Given the description of an element on the screen output the (x, y) to click on. 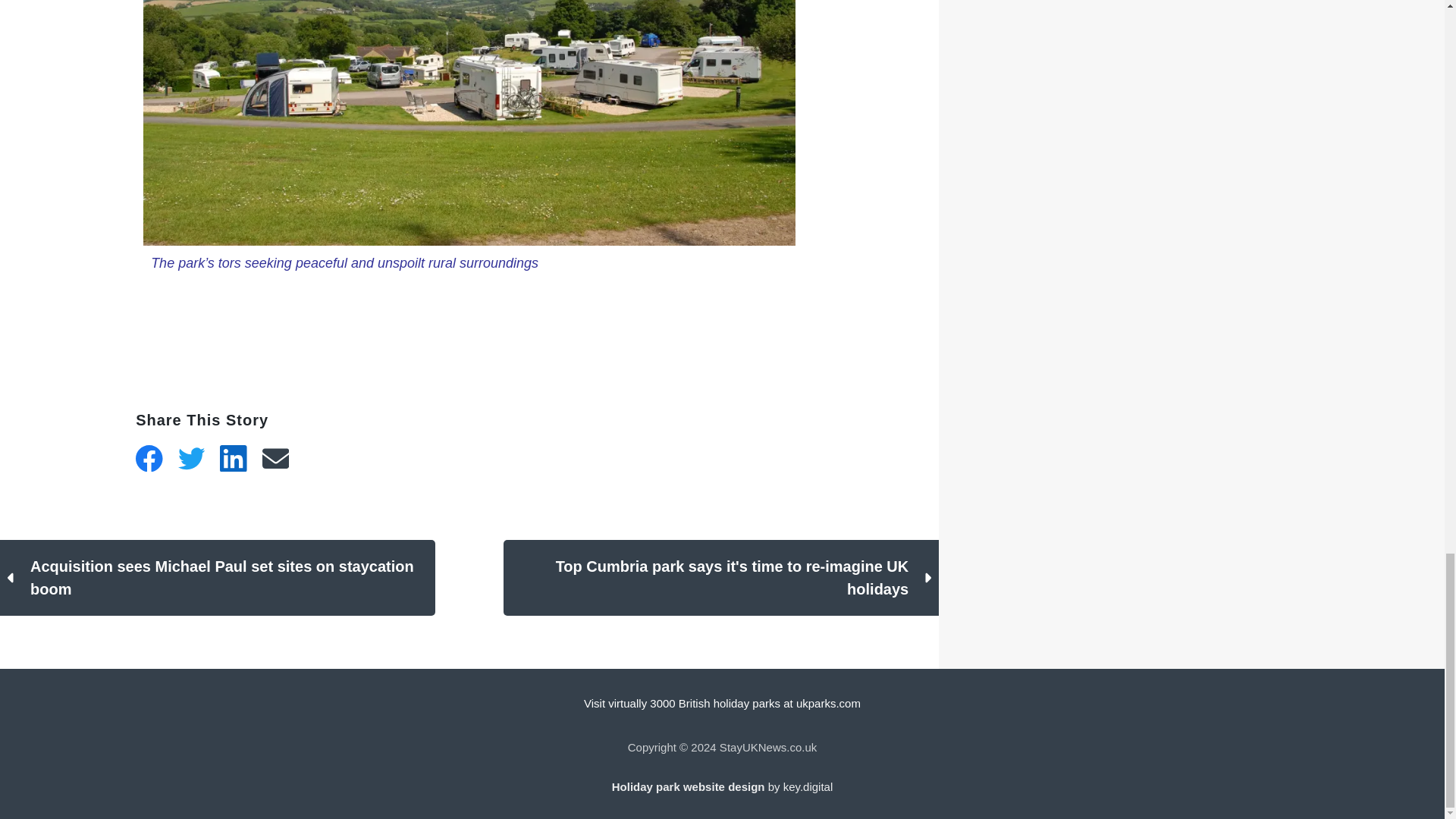
Share On Twitter (191, 458)
Top Cumbria park says it's time to re-imagine UK holidays (721, 577)
Share On LinkedIn (233, 458)
Visit virtually 3000 British holiday parks at ukparks.com (721, 703)
Email a link to this story (275, 458)
Acquisition sees Michael Paul set sites on staycation boom (217, 577)
Email a link to this story (275, 458)
Holiday park website design (688, 786)
Share On LinkedIn (233, 458)
Share To Facebook (149, 458)
